Given the description of an element on the screen output the (x, y) to click on. 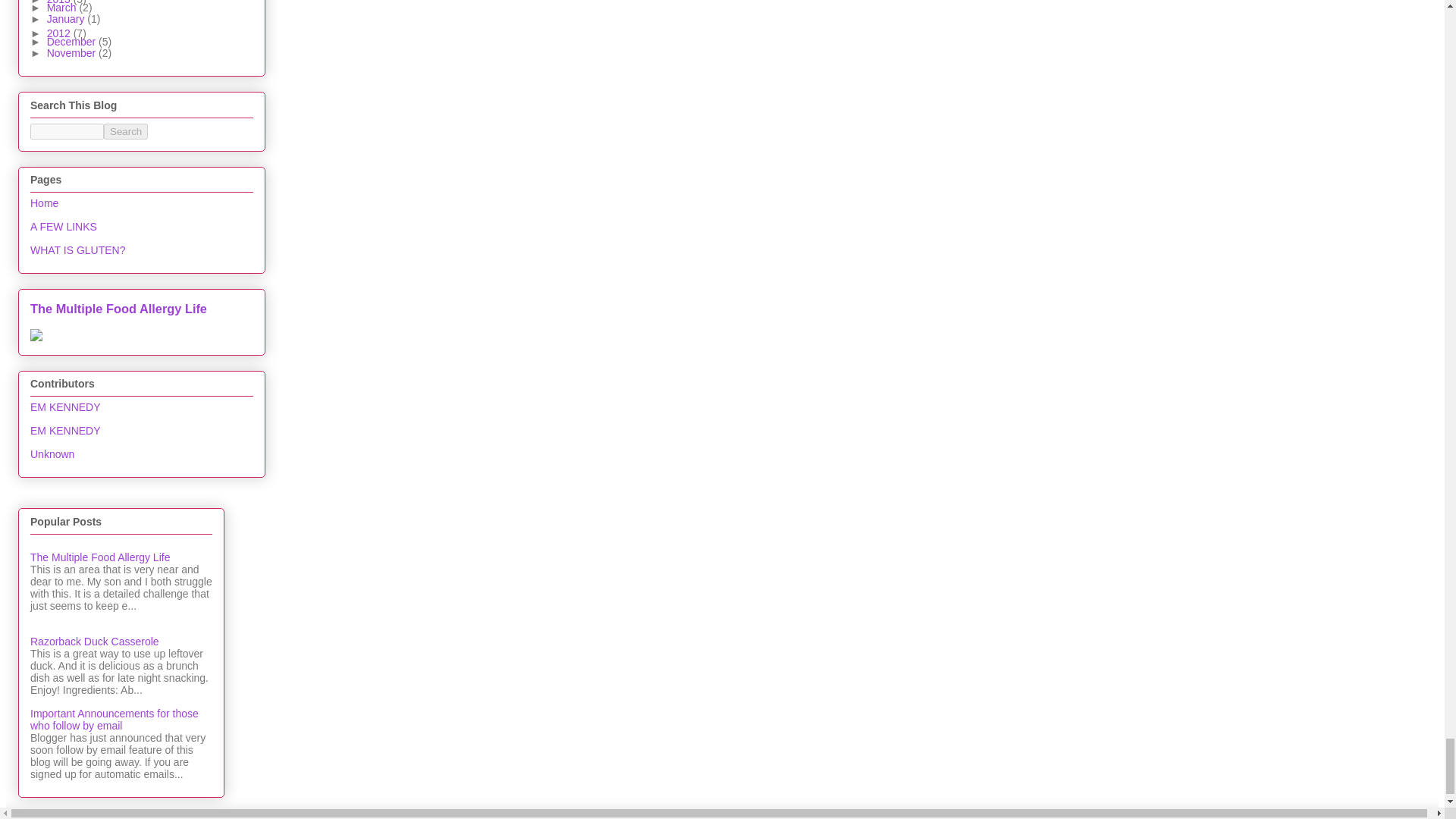
Search (125, 131)
search (66, 131)
Search (125, 131)
search (125, 131)
